Given the description of an element on the screen output the (x, y) to click on. 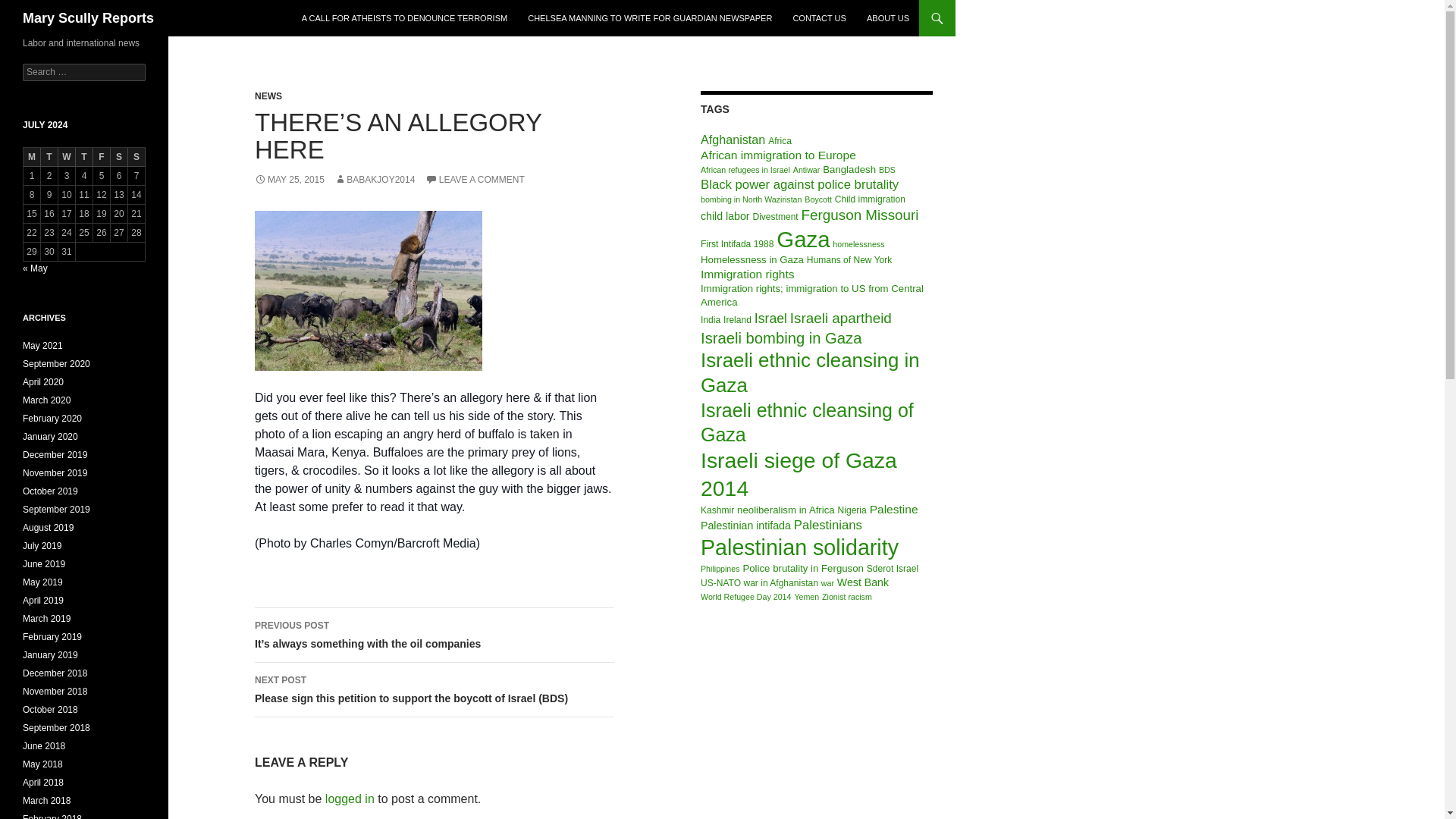
Afghanistan (732, 139)
Gaza (802, 238)
Immigration rights; immigration to US from Central America (811, 294)
Sunday (136, 157)
Monday (31, 157)
NEWS (268, 95)
Divestment (774, 216)
Bangladesh (849, 169)
BDS (887, 169)
African refugees in Israel (745, 169)
Immigration rights (747, 273)
Africa (780, 140)
Black power against police brutality (799, 184)
Friday (101, 157)
Wednesday (66, 157)
